Given the description of an element on the screen output the (x, y) to click on. 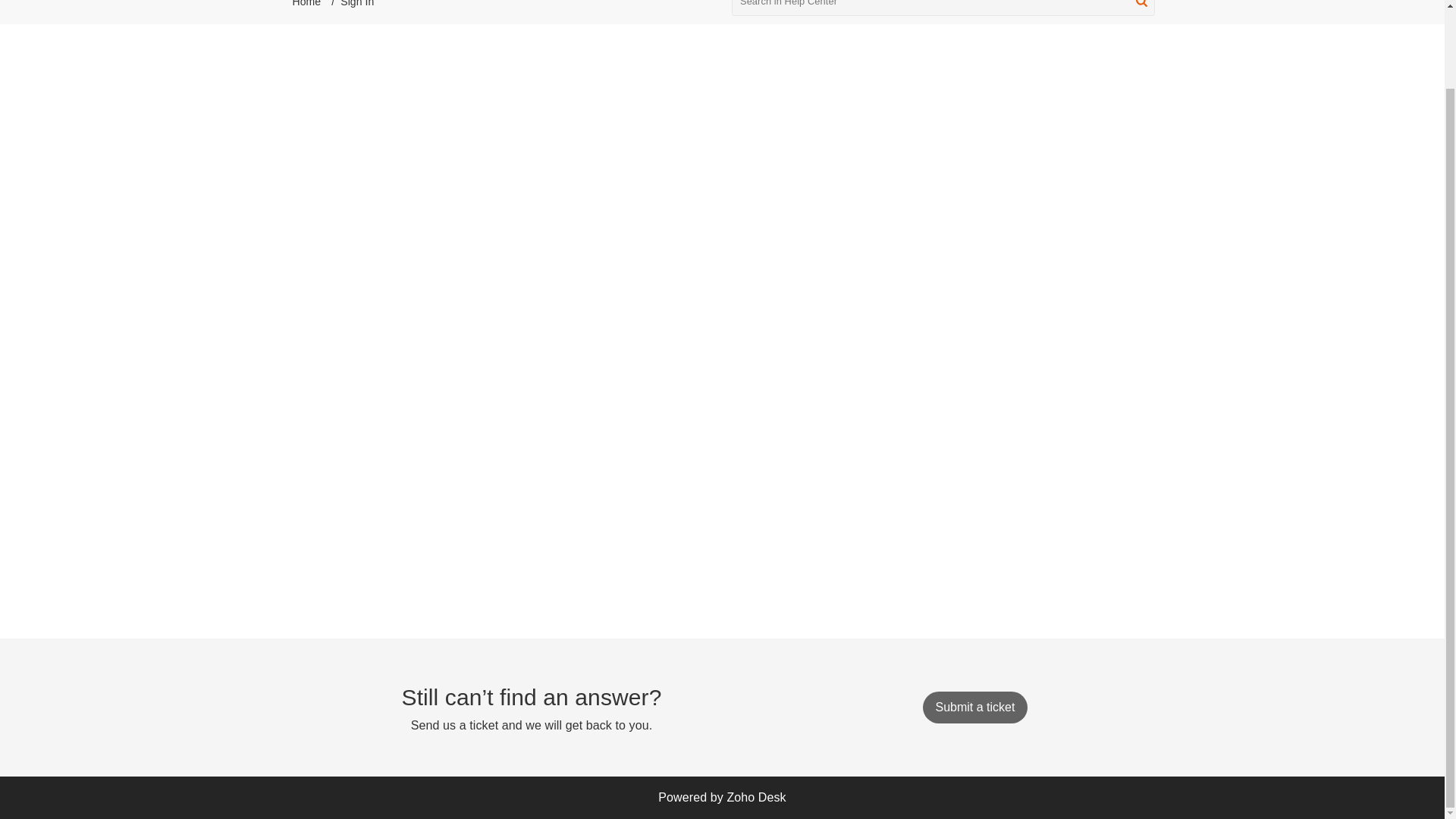
Submit a ticket (974, 707)
Zoho Desk (756, 797)
Home (306, 3)
Submit a ticket (974, 707)
